Given the description of an element on the screen output the (x, y) to click on. 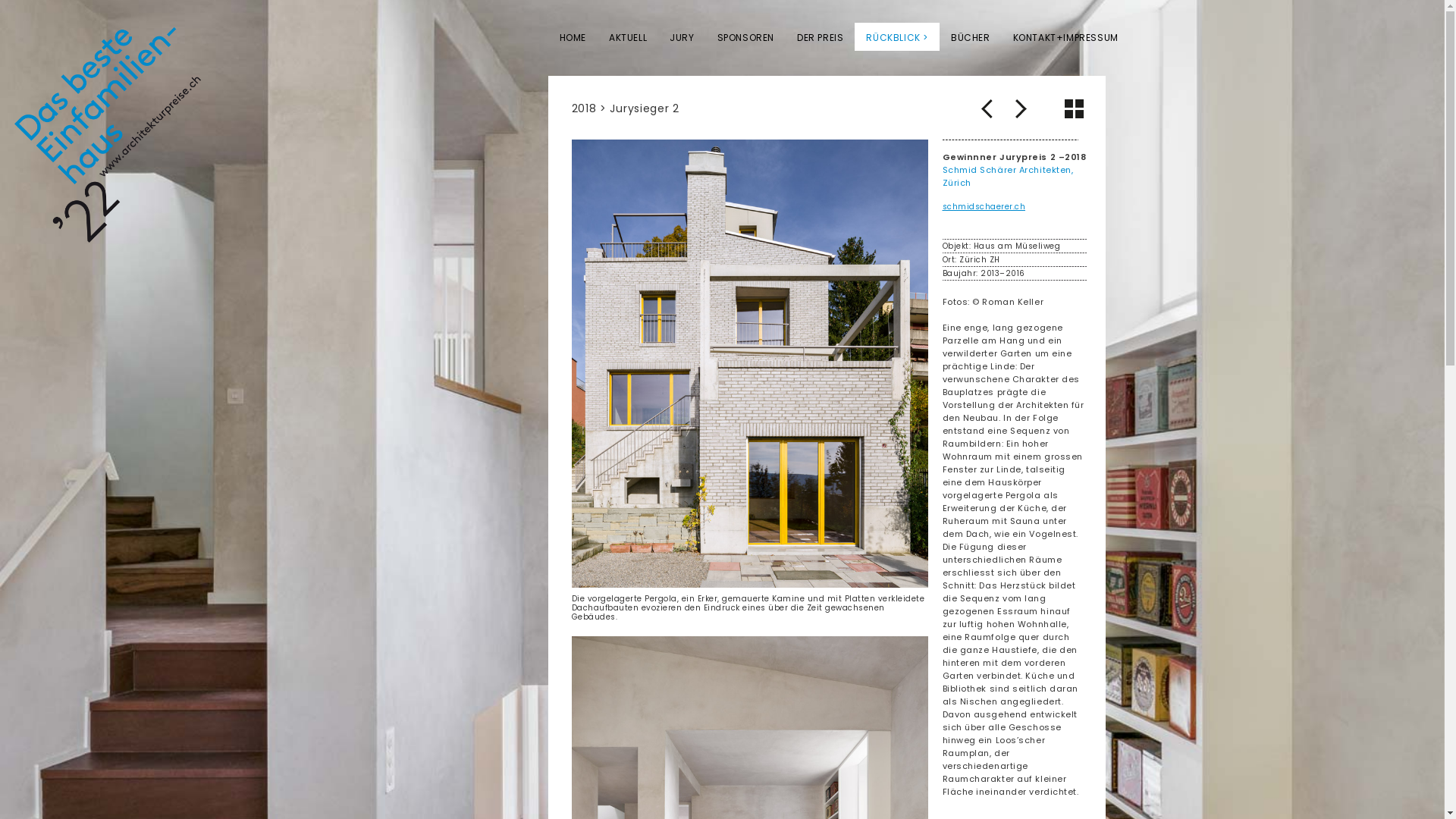
JURY Element type: text (681, 36)
SPONSOREN Element type: text (745, 36)
AKTUELL Element type: text (627, 36)
HOME Element type: text (571, 36)
KONTAKT+IMPRESSUM Element type: text (1065, 36)
DER PREIS Element type: text (819, 36)
schmidschaerer.ch Element type: text (983, 206)
